Given the description of an element on the screen output the (x, y) to click on. 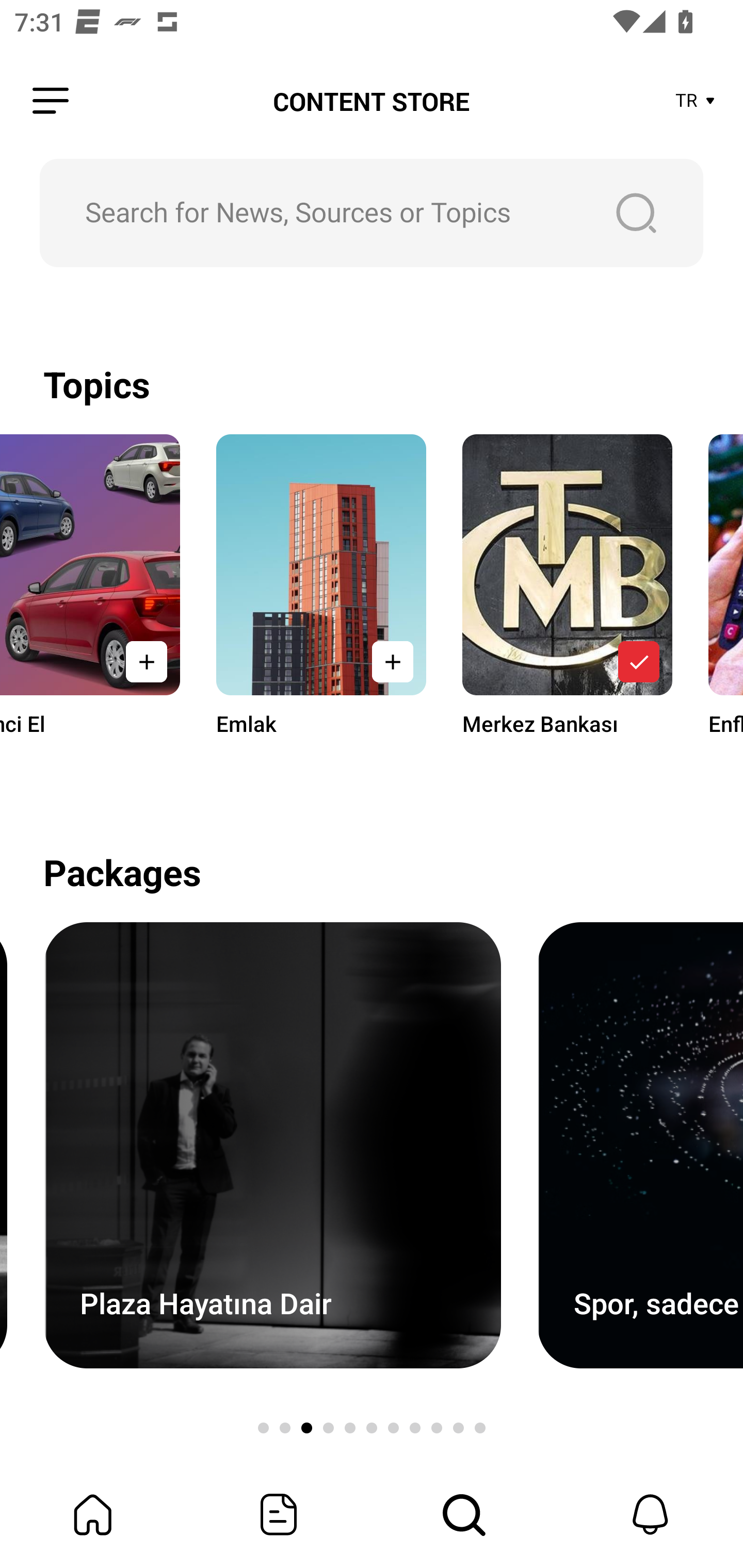
Leading Icon (50, 101)
TR Store Area (695, 101)
Search for News, Sources or Topics Search Button (371, 212)
Add To My Bundle (146, 661)
Add To My Bundle (392, 661)
Add To My Bundle (638, 661)
My Bundle (92, 1514)
Featured (278, 1514)
Notifications (650, 1514)
